Given the description of an element on the screen output the (x, y) to click on. 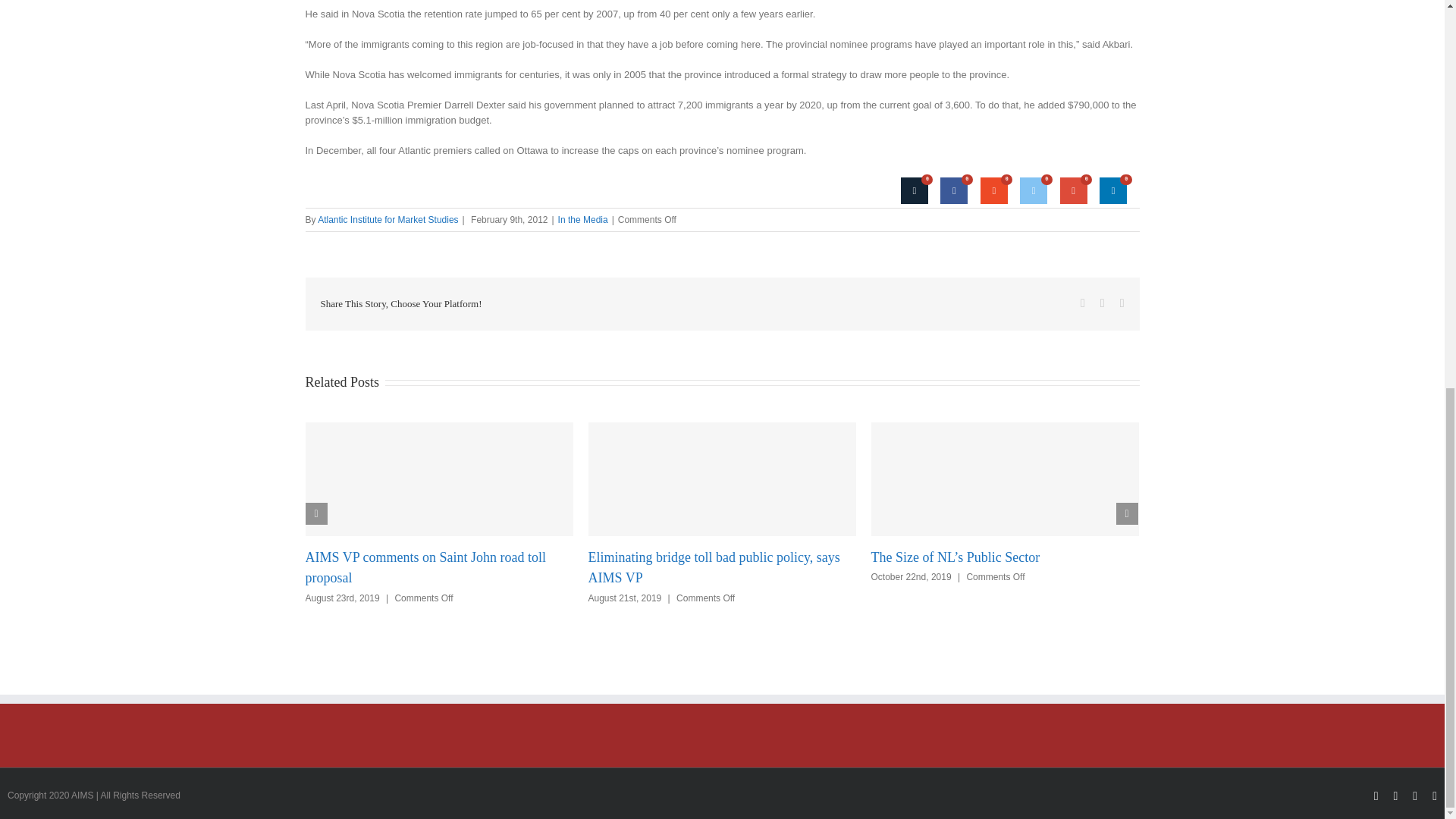
Print (914, 190)
Linkedin (1112, 190)
Posts by Atlantic Institute for Market Studies (387, 219)
Facebook (954, 190)
Mail (993, 190)
Twitter (1033, 190)
